Given the description of an element on the screen output the (x, y) to click on. 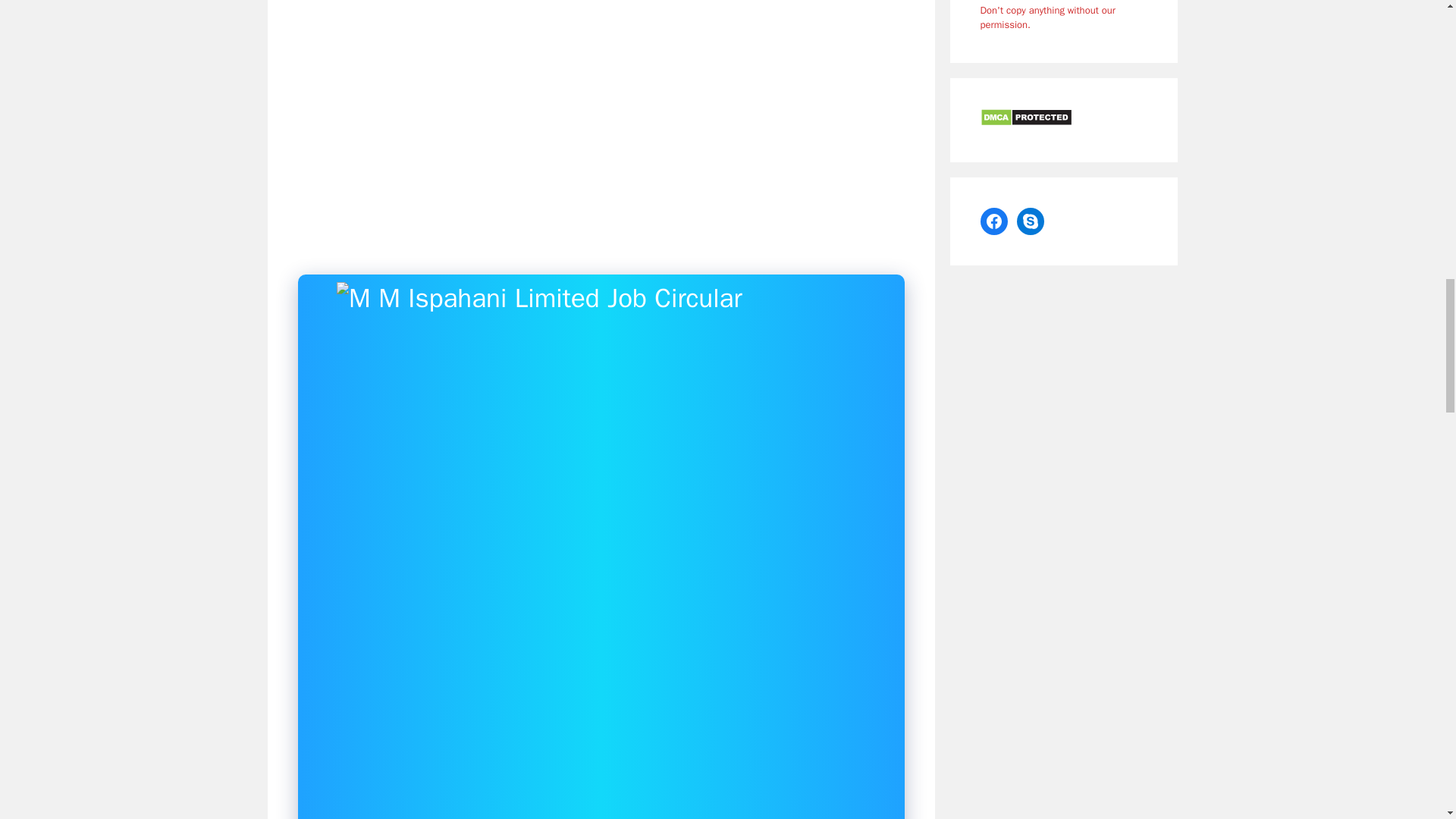
DMCA.com Protection Status (1025, 121)
